Given the description of an element on the screen output the (x, y) to click on. 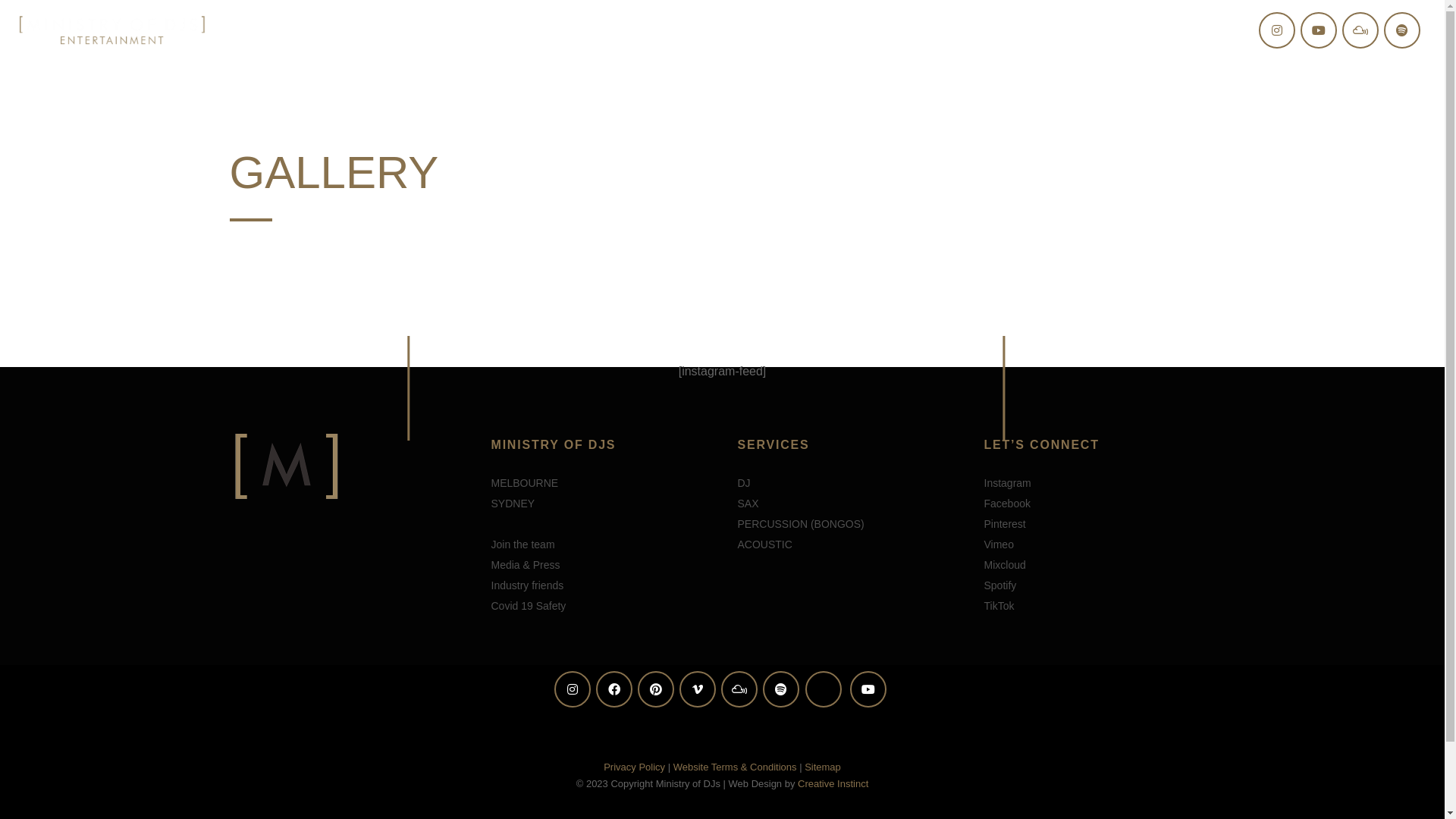
TikTok Element type: text (999, 605)
Media & Press Element type: text (525, 564)
SAX Element type: text (747, 503)
Sitemap Element type: text (822, 766)
Pinterest Element type: text (1005, 523)
MELBOURNE Element type: text (524, 482)
EVENTS Element type: text (1032, 30)
SYDNEY Element type: text (513, 503)
Join the team Element type: text (523, 544)
Facebook Element type: text (1007, 503)
Mixcloud Element type: text (1005, 564)
PERCUSSION (BONGOS) Element type: text (800, 523)
Spotify Element type: text (1000, 585)
Industry friends Element type: text (527, 585)
ENQUIRE NOW Element type: text (1185, 30)
Covid 19 Safety Element type: text (528, 605)
OUR CLIENTS Element type: text (854, 30)
DJ Element type: text (743, 482)
Website Terms & Conditions Element type: text (735, 766)
ACOUSTIC Element type: text (764, 544)
Creative Instinct Element type: text (832, 783)
Instagram Element type: text (1007, 482)
Privacy Policy Element type: text (634, 766)
Vimeo Element type: text (998, 544)
BLOG Element type: text (1100, 30)
SERVICES Element type: text (951, 30)
